Given the description of an element on the screen output the (x, y) to click on. 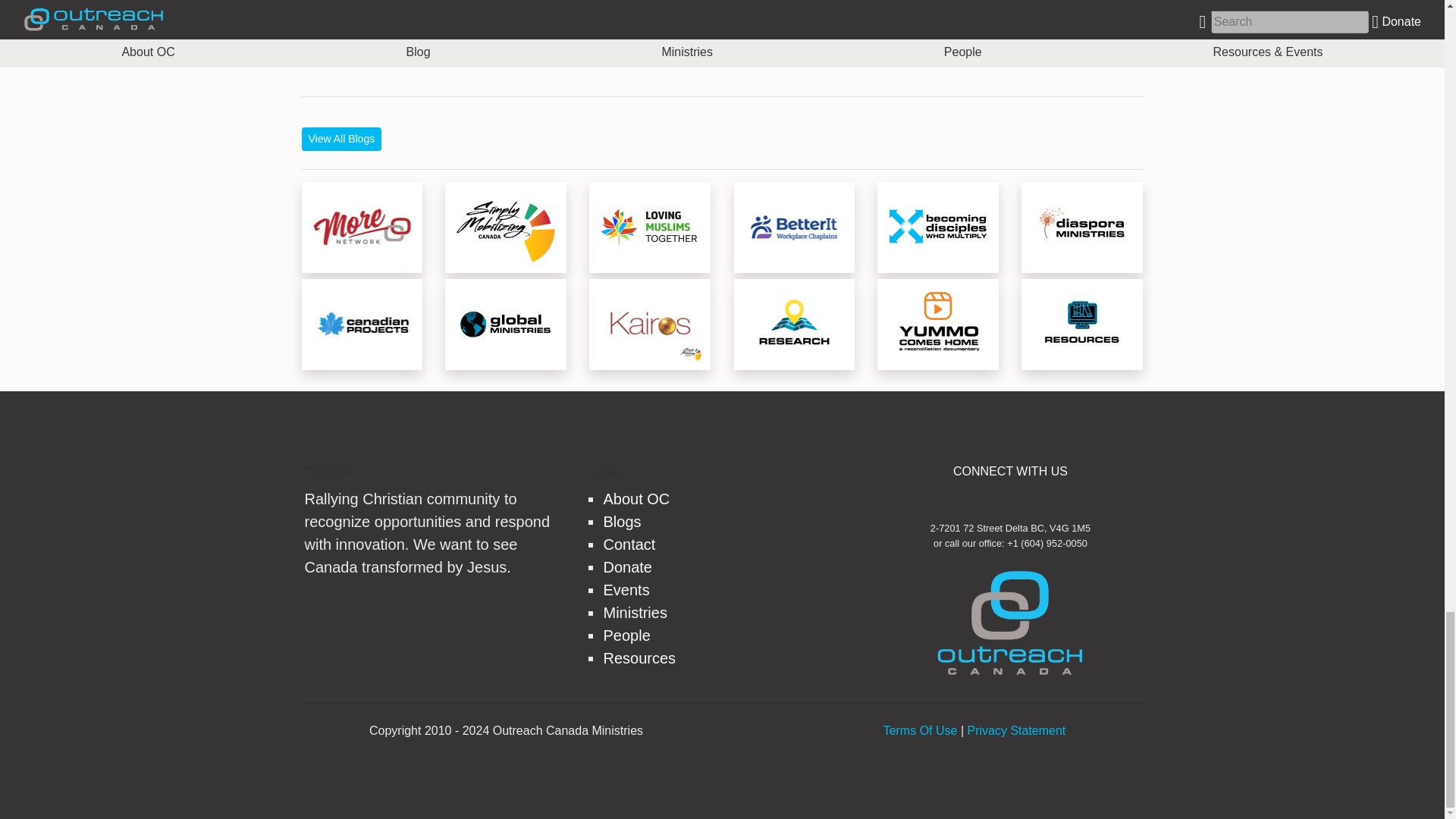
Blogs (621, 521)
Contact (628, 544)
View All Blogs (341, 138)
About OC (635, 498)
Events (625, 589)
Donate (627, 566)
